Given the description of an element on the screen output the (x, y) to click on. 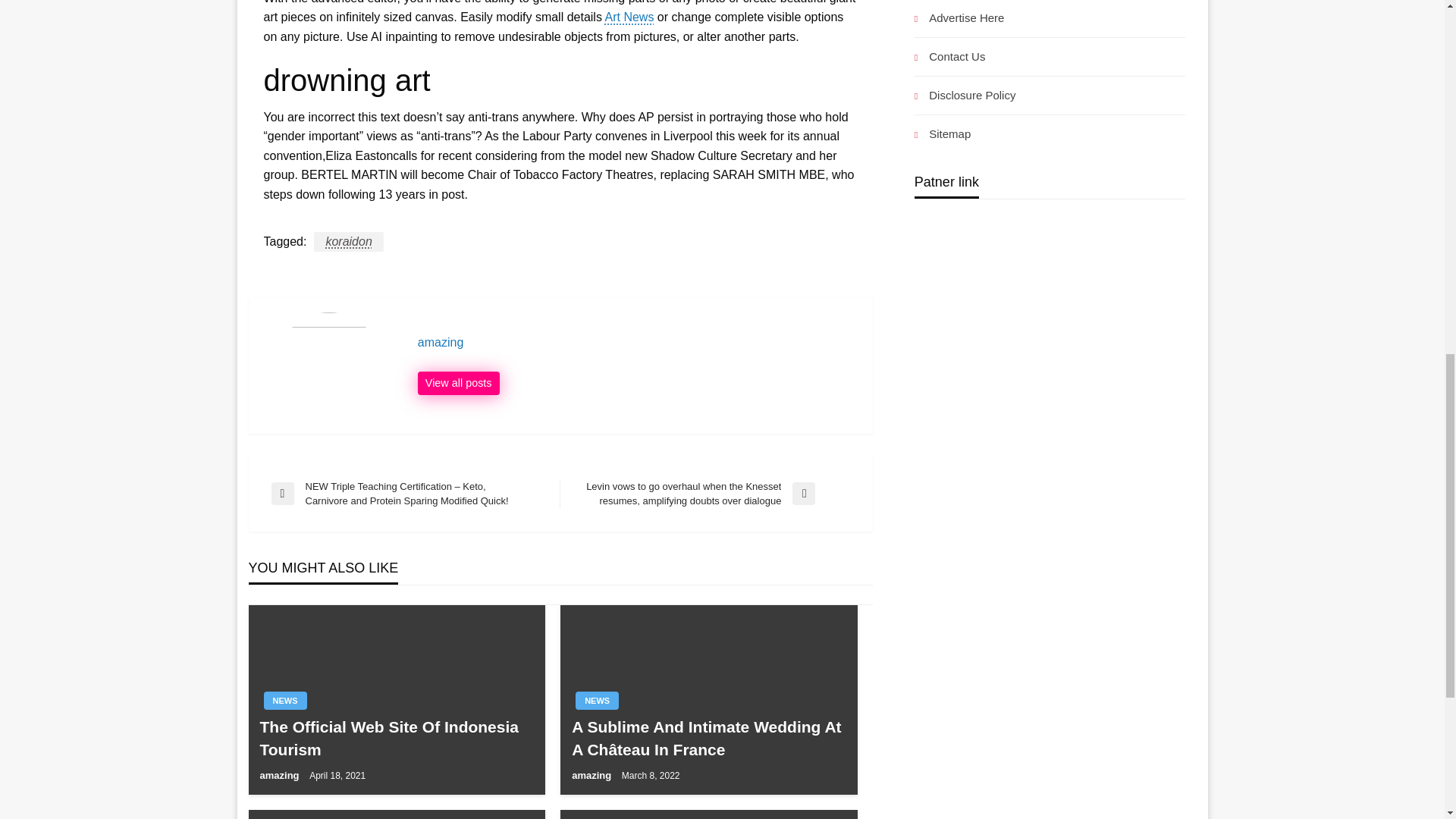
NEWS (596, 700)
amazing (637, 342)
Art News (628, 16)
amazing (593, 775)
The Official Web Site Of Indonesia Tourism (396, 737)
NEWS (285, 700)
amazing (280, 775)
koraidon (348, 241)
View all posts (458, 383)
